Given the description of an element on the screen output the (x, y) to click on. 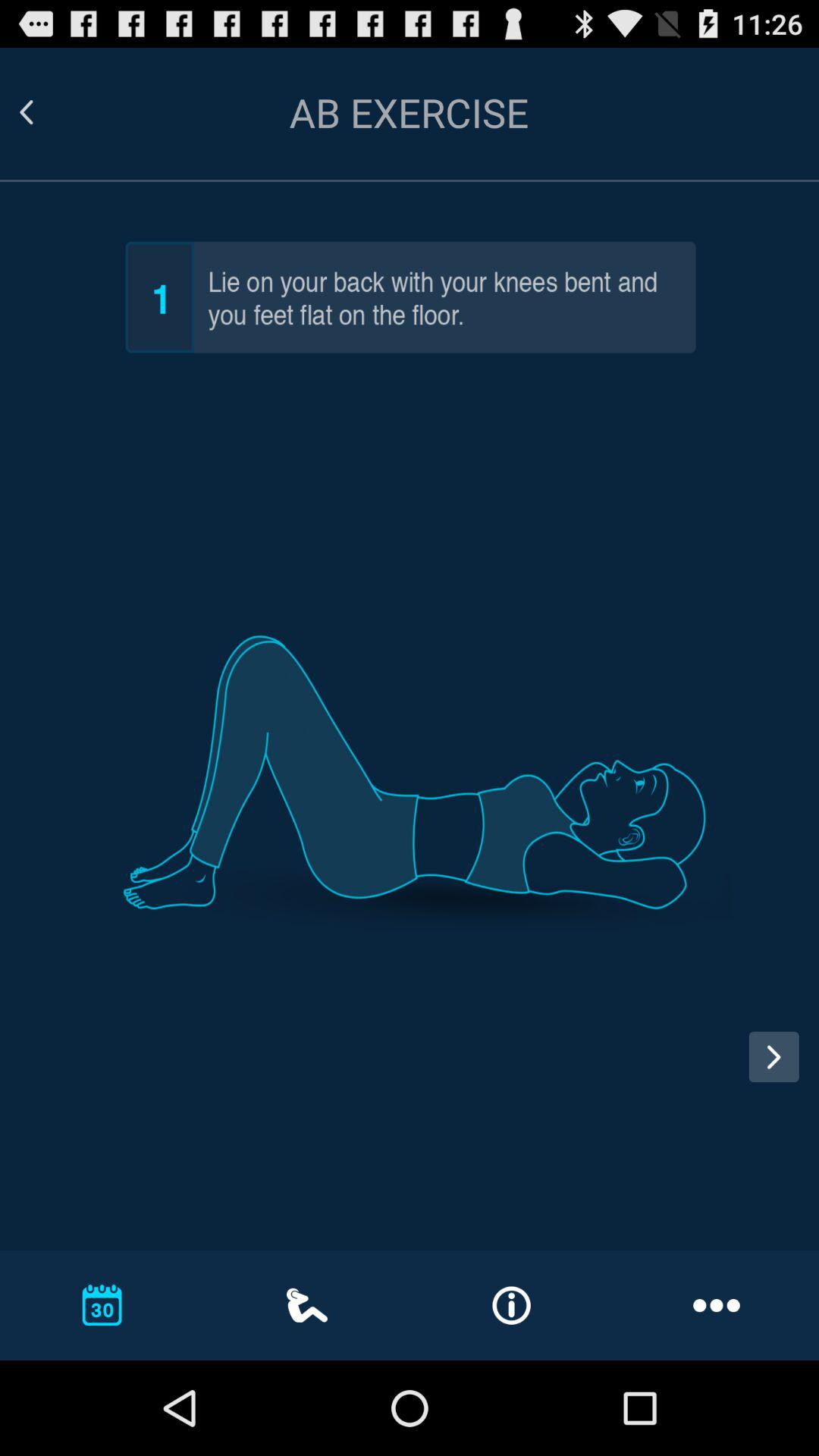
go to previous screen (44, 112)
